Given the description of an element on the screen output the (x, y) to click on. 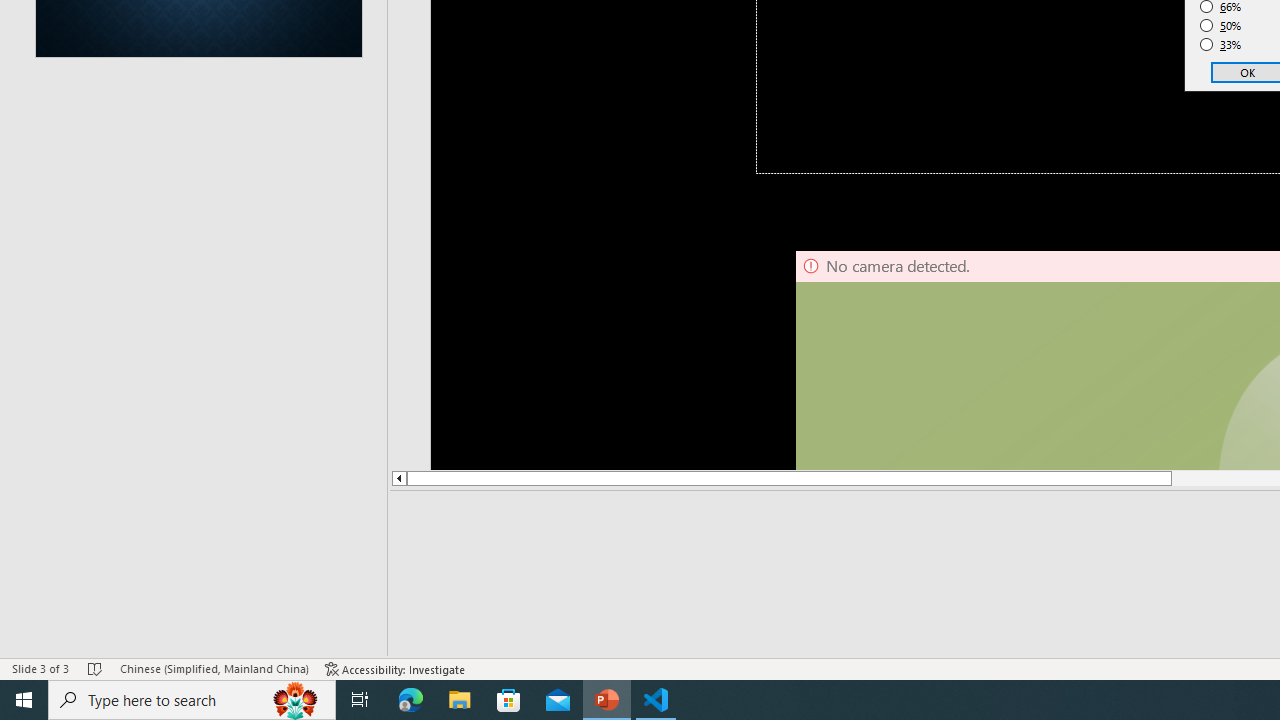
50% (1221, 25)
33% (1221, 44)
